Given the description of an element on the screen output the (x, y) to click on. 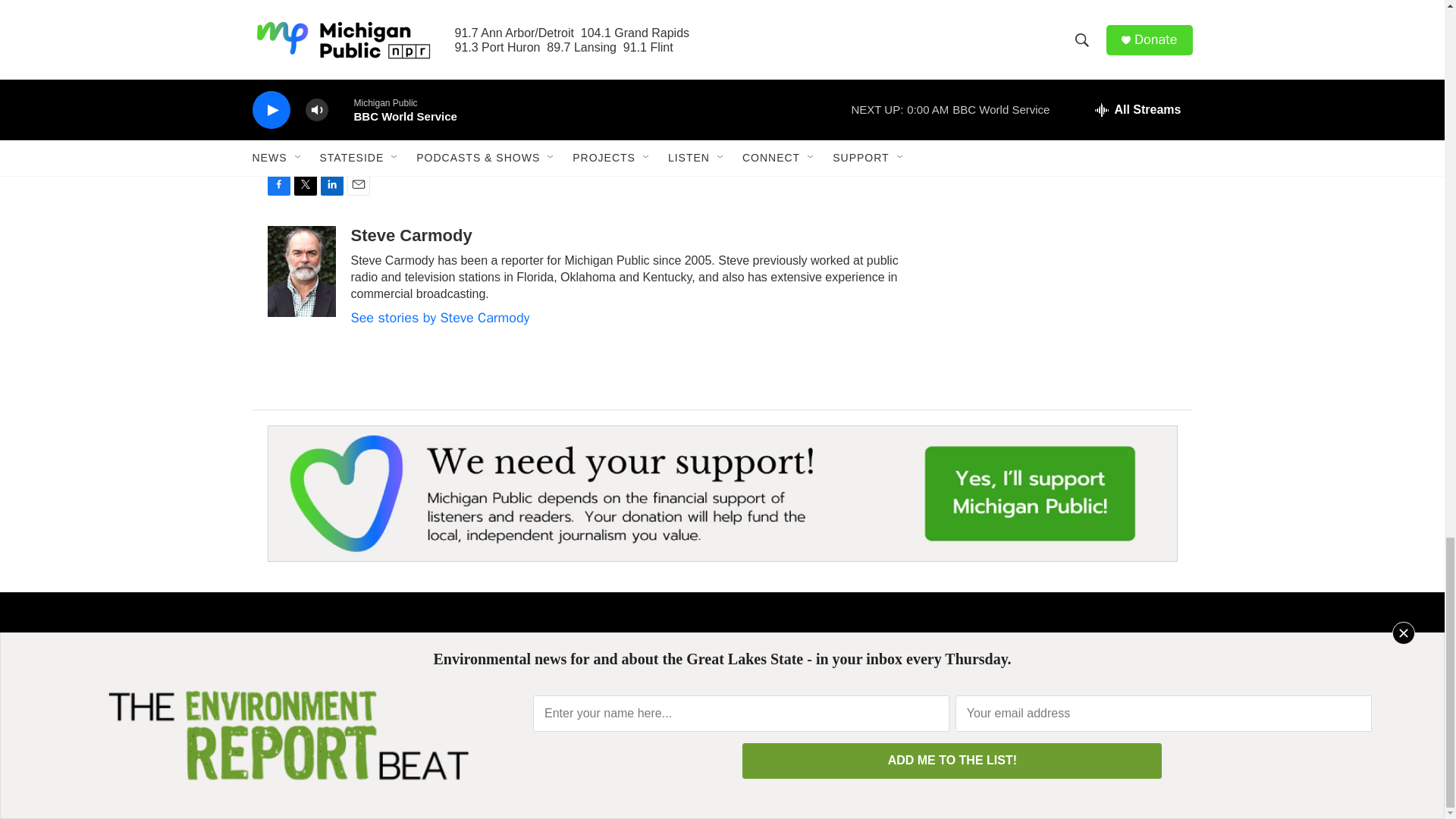
3rd party ad content (1062, 52)
3rd party ad content (1062, 229)
